Given the description of an element on the screen output the (x, y) to click on. 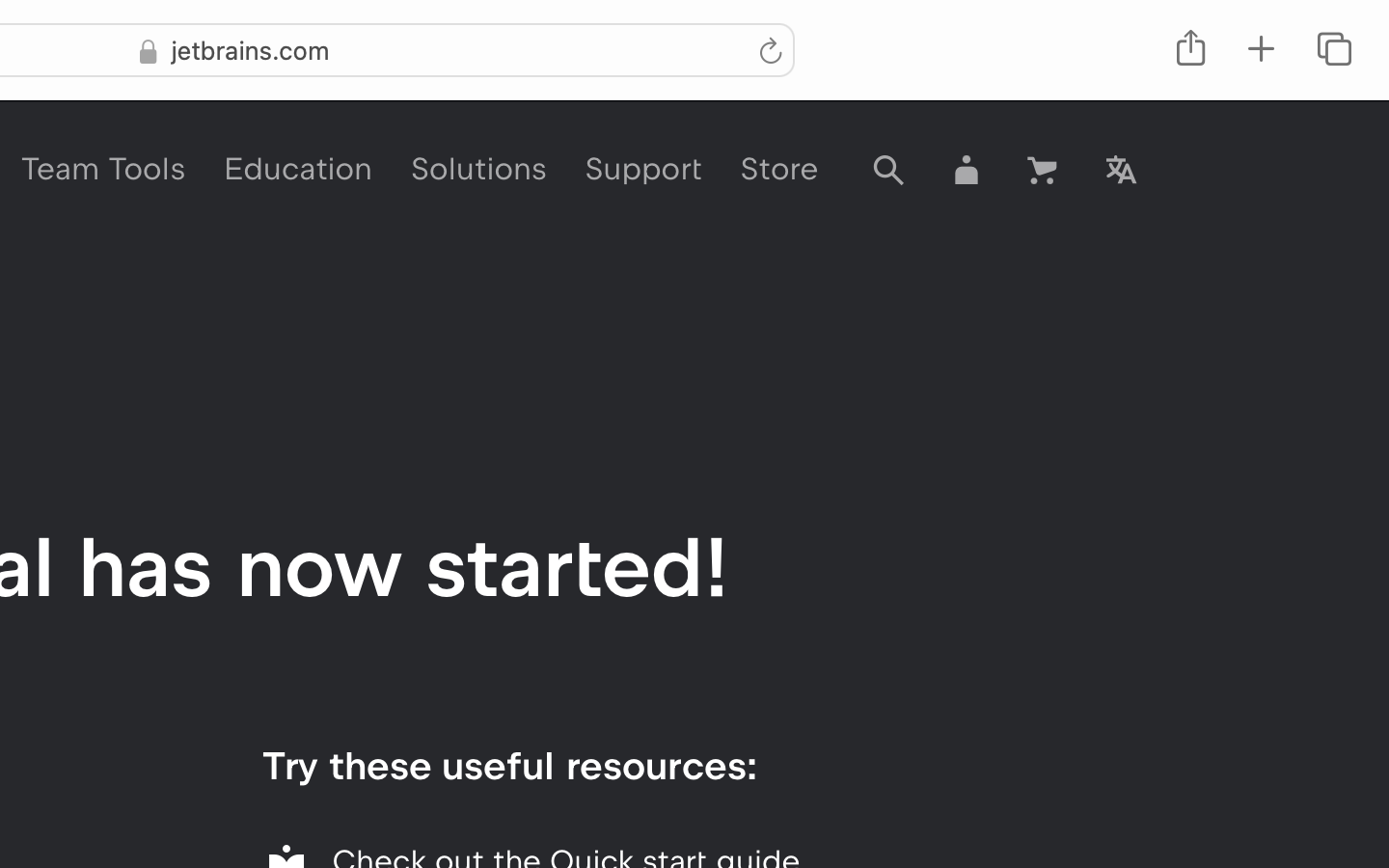
Try these useful resources: Element type: AXStaticText (510, 765)
